Given the description of an element on the screen output the (x, y) to click on. 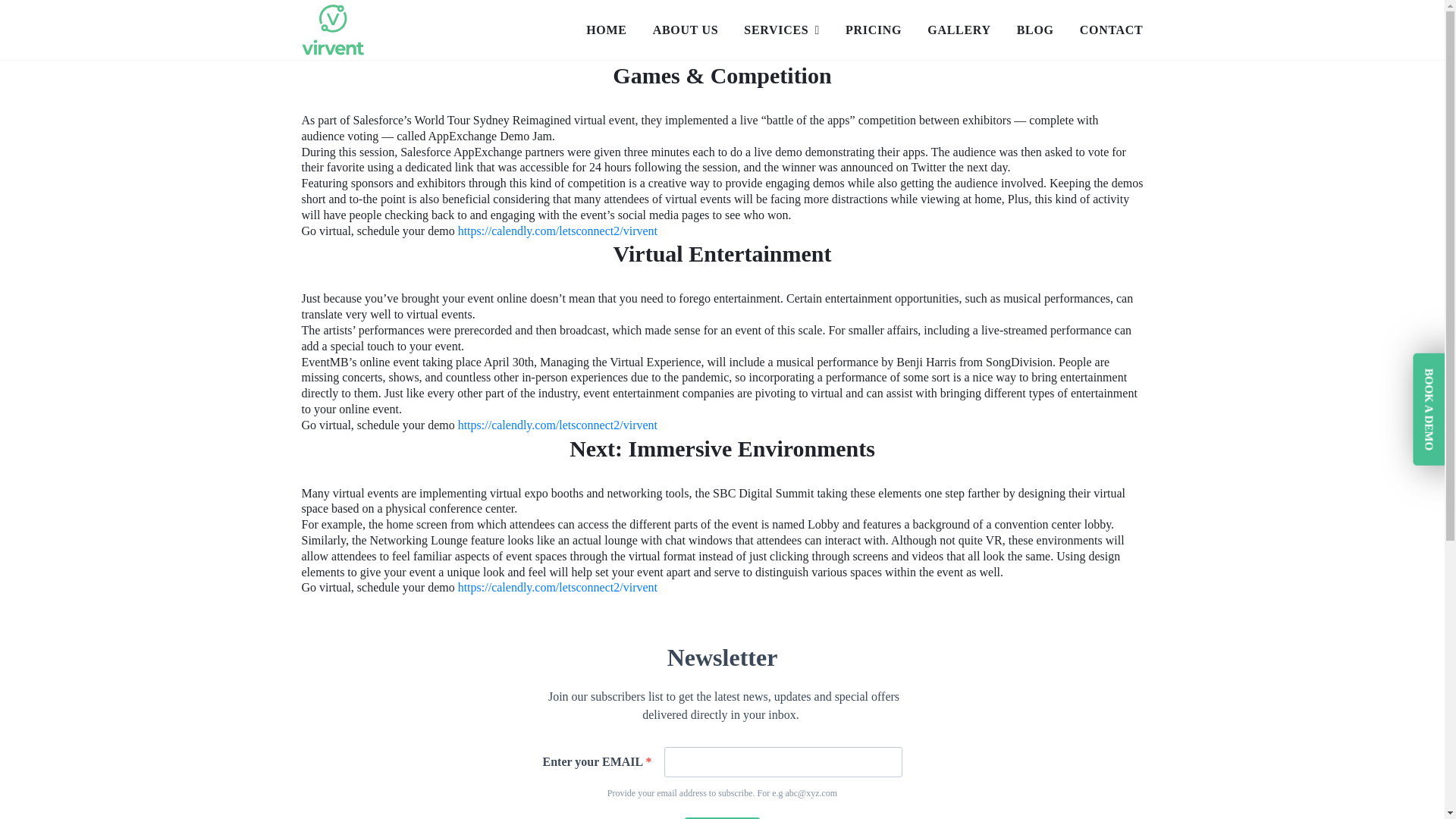
ABOUT US (685, 34)
GALLERY (958, 30)
GALLERY (958, 34)
PRICING (873, 30)
BLOG (1035, 30)
SERVICES (781, 34)
Subscribe (722, 818)
CONTACT (1111, 34)
HOME (606, 34)
CONTACT (1111, 30)
PRICING (873, 34)
BLOG (1035, 34)
ABOUT US (685, 30)
HOME (606, 30)
